Given the description of an element on the screen output the (x, y) to click on. 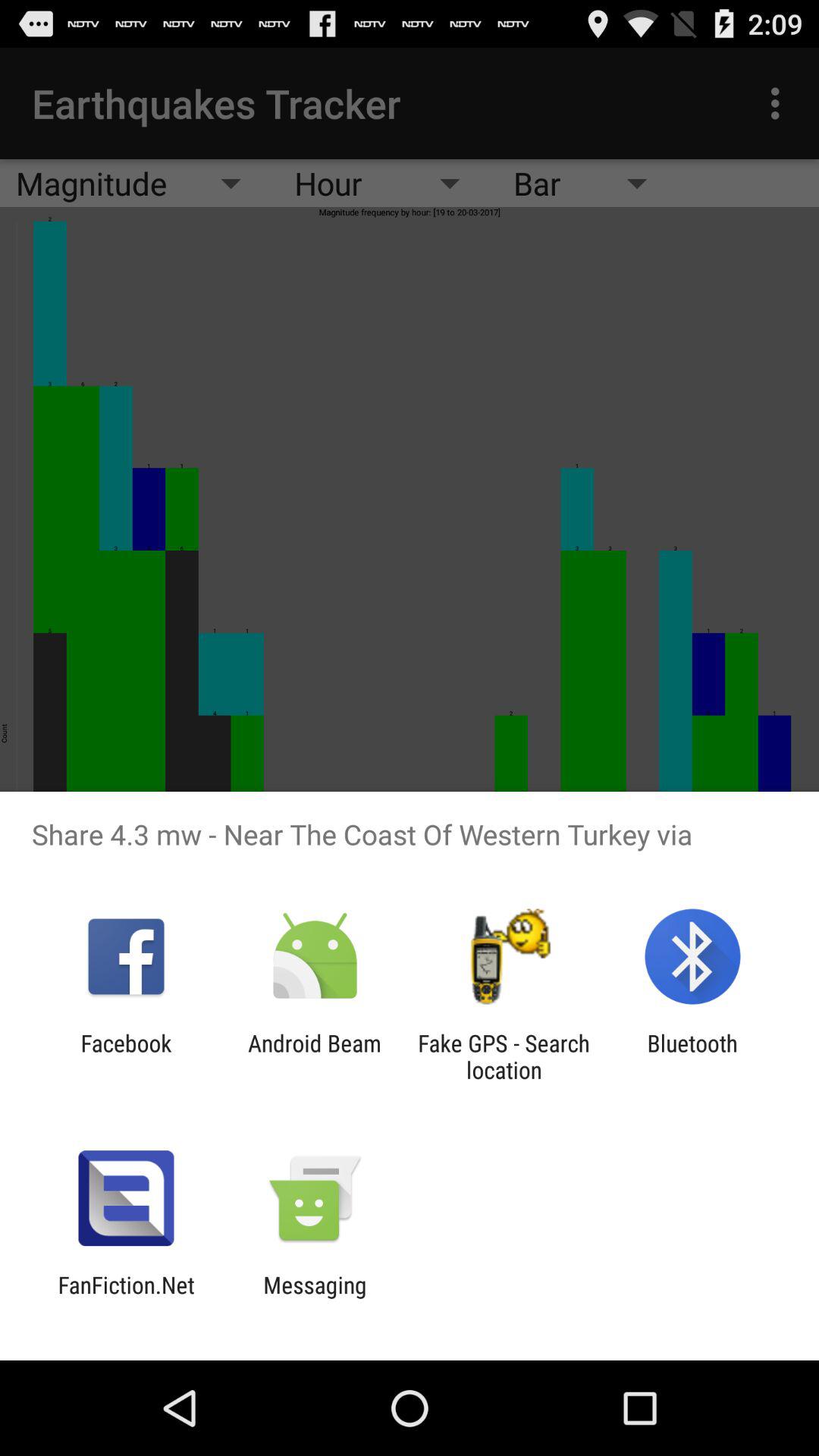
turn on item next to the android beam icon (503, 1056)
